Given the description of an element on the screen output the (x, y) to click on. 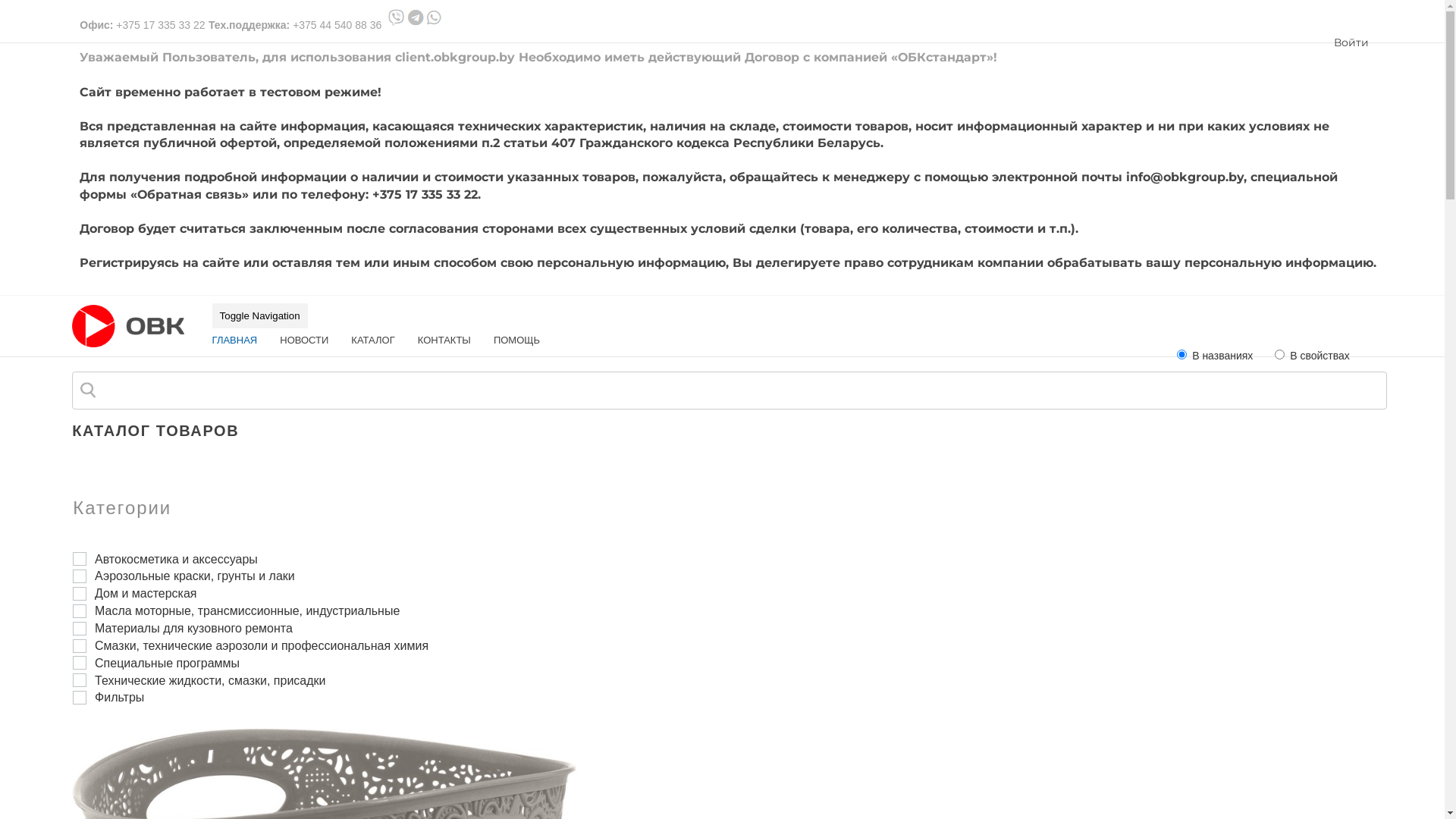
+375 17 335 33 22 Element type: text (160, 24)
Toggle Navigation Element type: text (259, 315)
+375 44 540 88 36 Element type: text (336, 24)
